Given the description of an element on the screen output the (x, y) to click on. 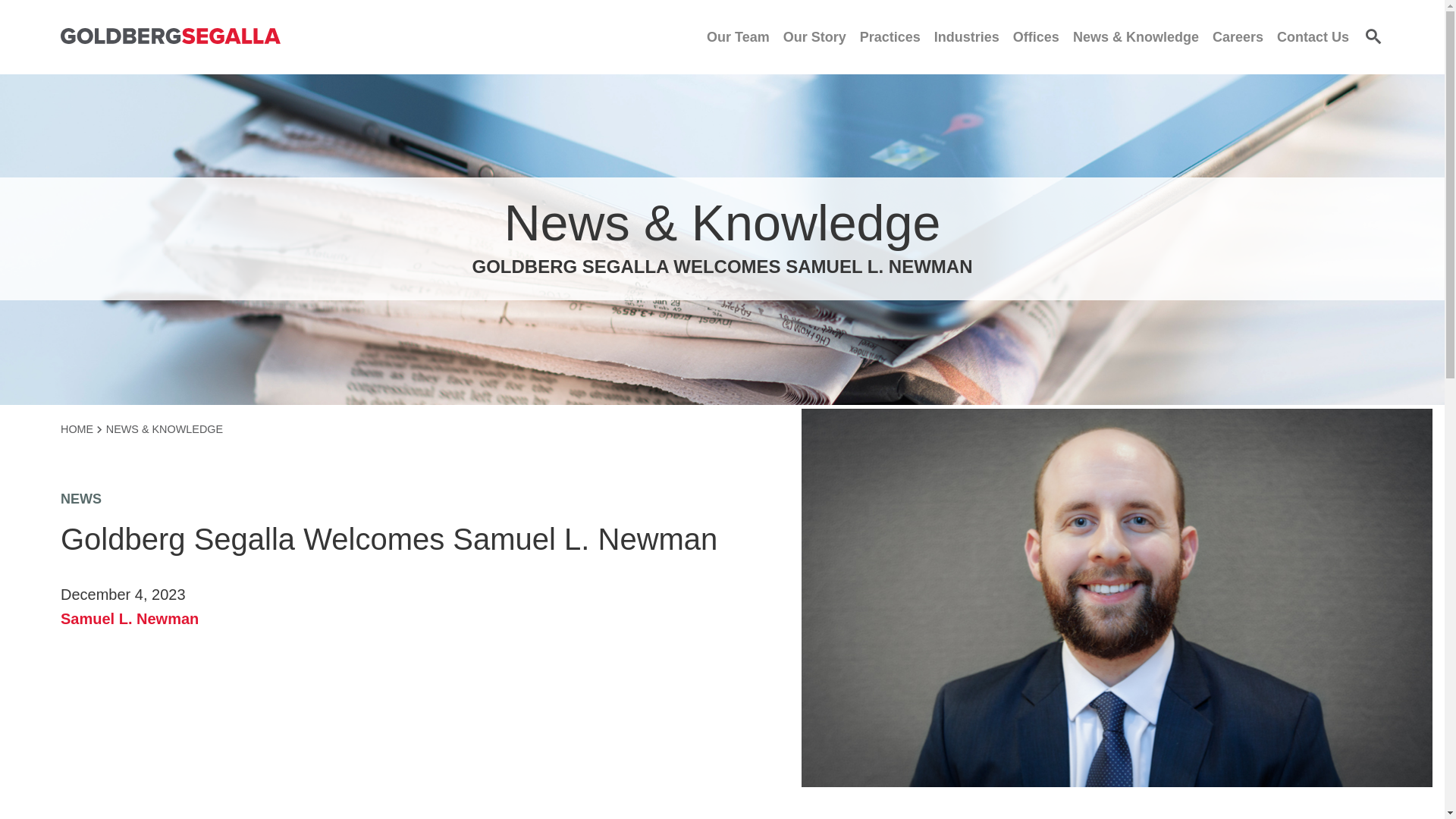
Practices (890, 37)
HOME (81, 428)
Industries (966, 37)
Contact Us (1312, 37)
Samuel L. Newman (129, 618)
Our Story (814, 37)
Offices (1036, 37)
Our Team (738, 37)
Careers (1237, 37)
